Given the description of an element on the screen output the (x, y) to click on. 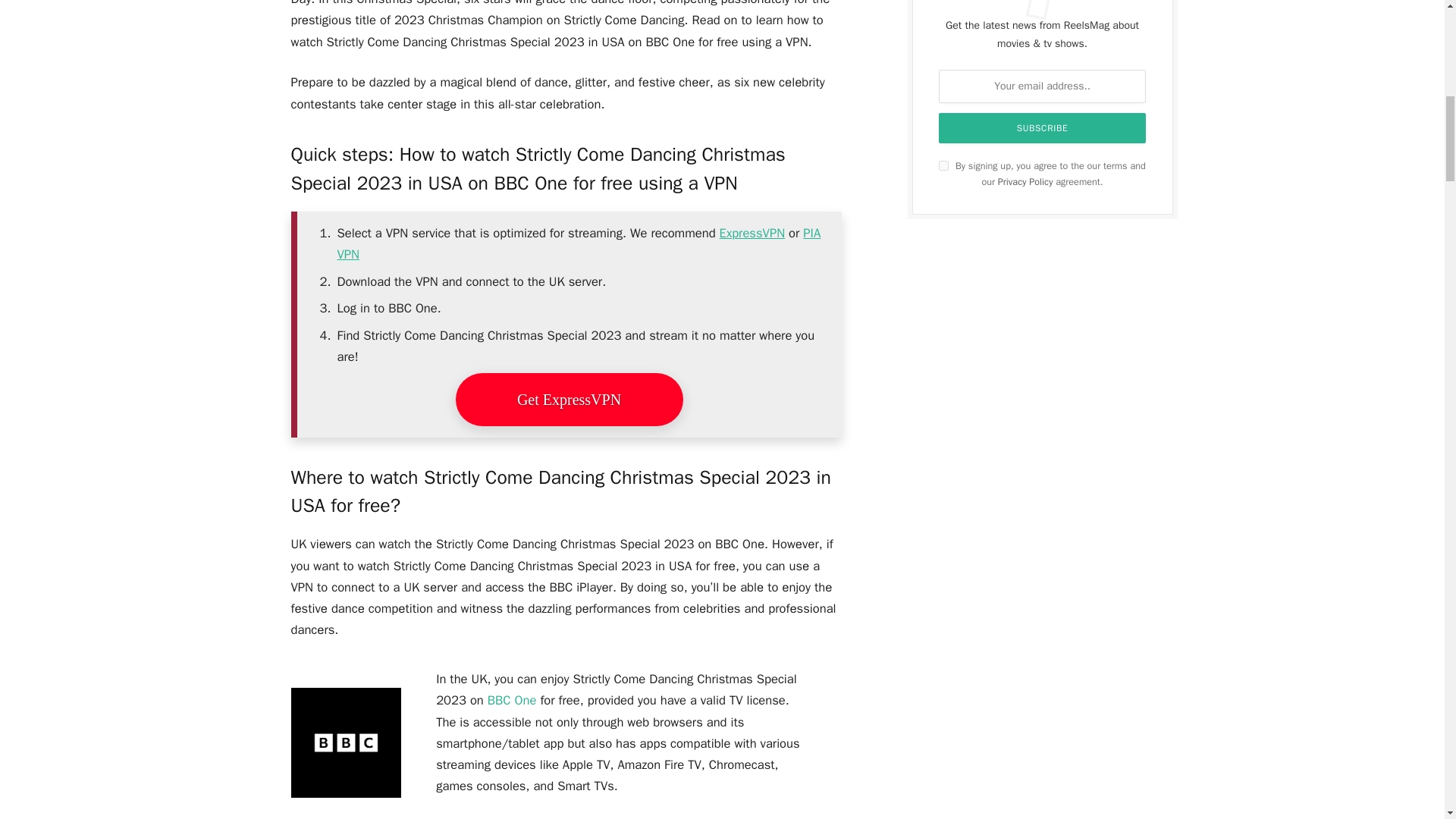
Subscribe (1043, 128)
on (944, 165)
